Given the description of an element on the screen output the (x, y) to click on. 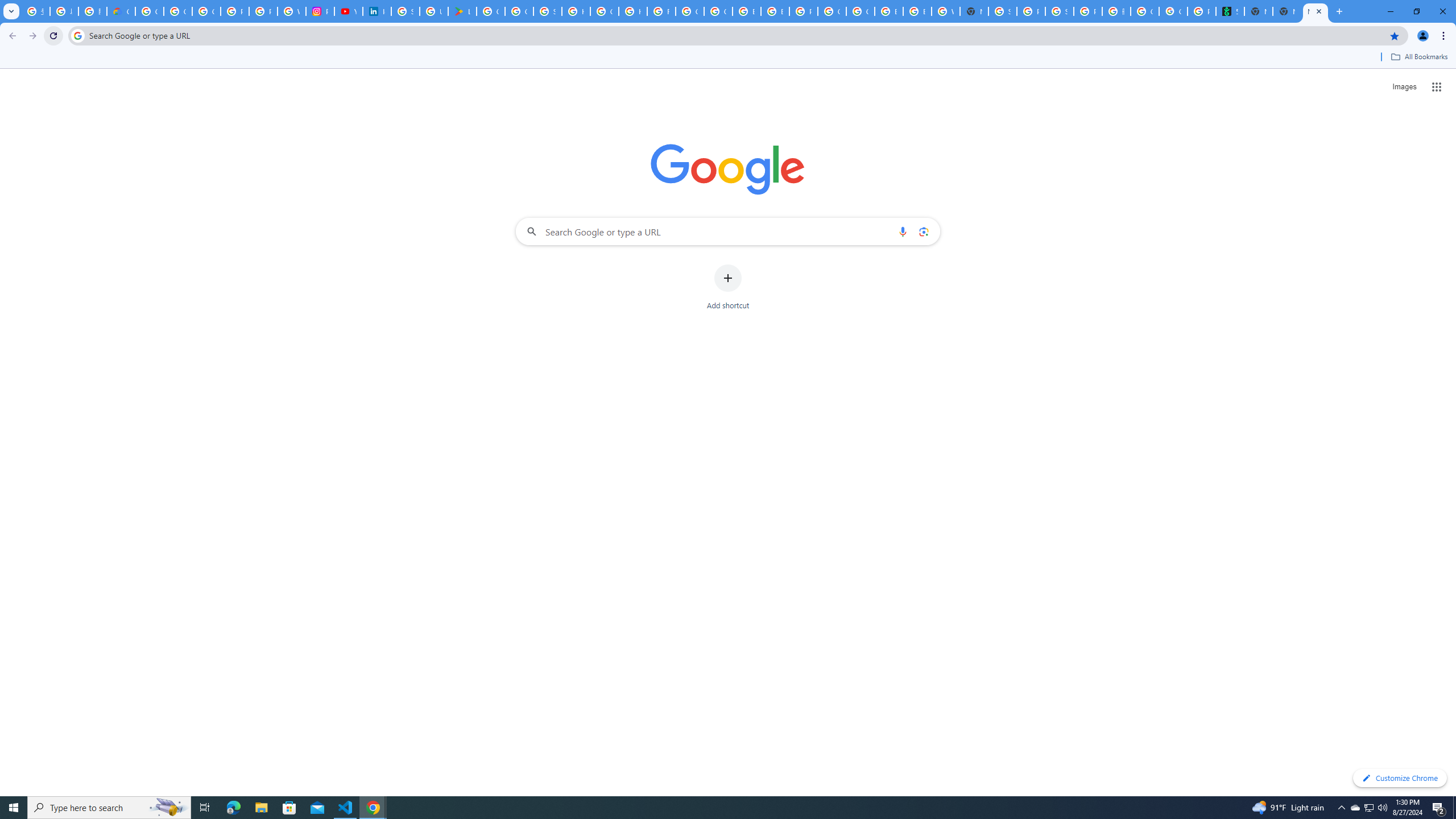
Google Cloud Platform (860, 11)
All Bookmarks (1418, 56)
Last Shelter: Survival - Apps on Google Play (461, 11)
Sign in - Google Accounts (547, 11)
Google Workspace - Specific Terms (518, 11)
Browse Chrome as a guest - Computer - Google Chrome Help (746, 11)
